Given the description of an element on the screen output the (x, y) to click on. 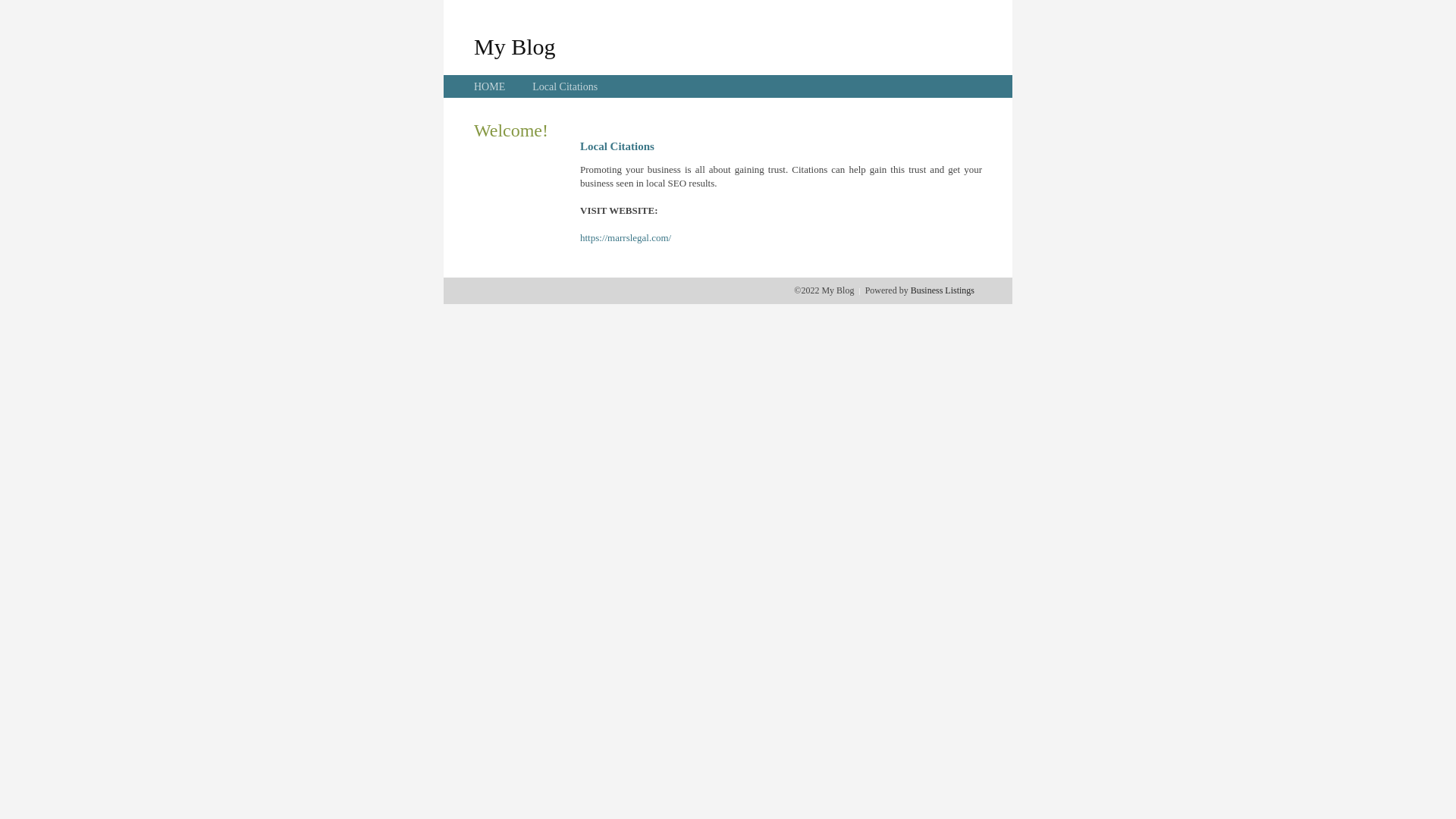
https://marrslegal.com/ Element type: text (625, 237)
Local Citations Element type: text (564, 86)
Business Listings Element type: text (942, 290)
My Blog Element type: text (514, 46)
HOME Element type: text (489, 86)
